Given the description of an element on the screen output the (x, y) to click on. 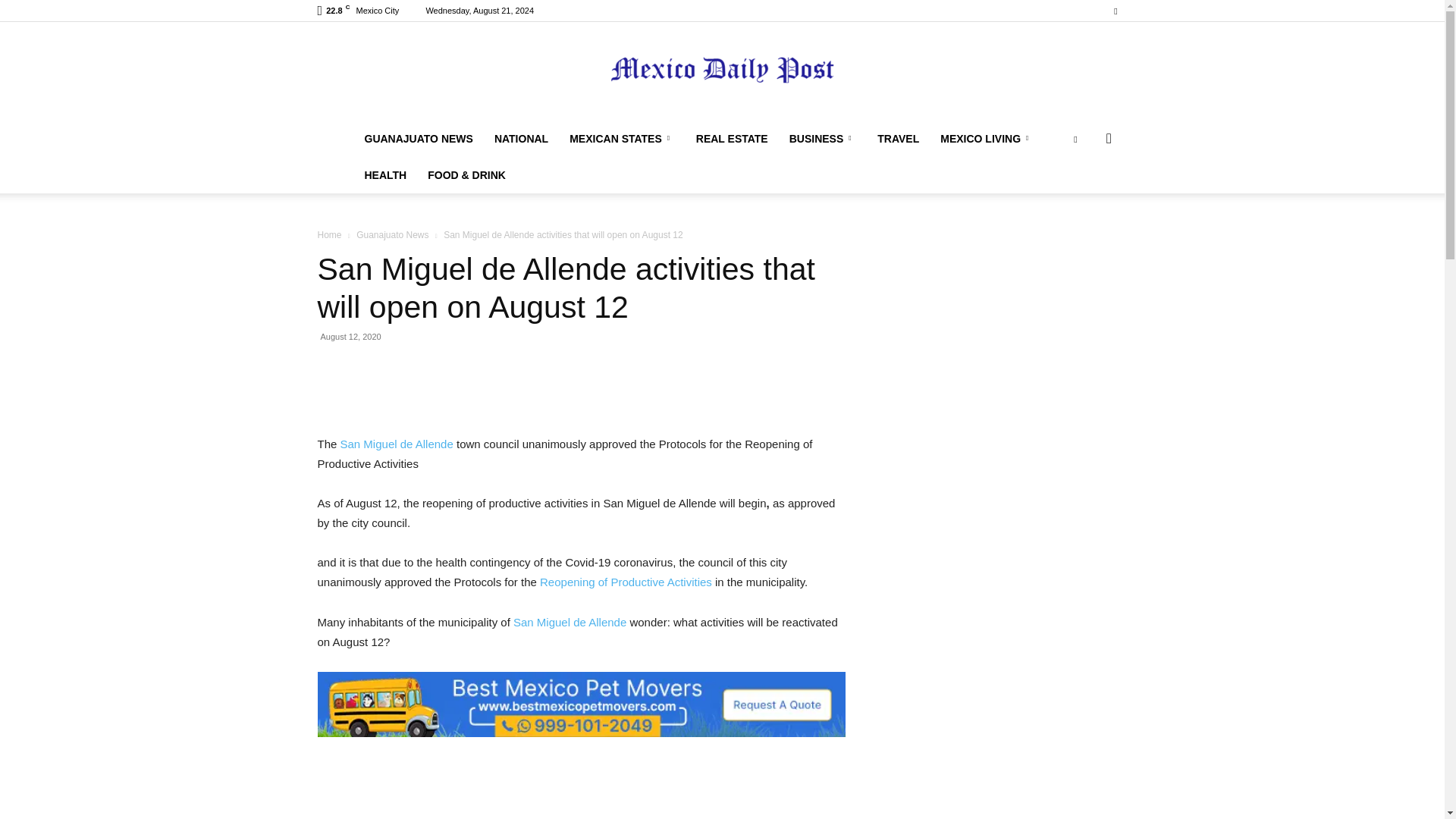
GUANAJUATO NEWS (418, 138)
View all posts in Guanajuato News (392, 235)
Twitter (1114, 10)
MEXICAN STATES (622, 138)
NATIONAL (521, 138)
Mexico Daily Post (721, 72)
